Given the description of an element on the screen output the (x, y) to click on. 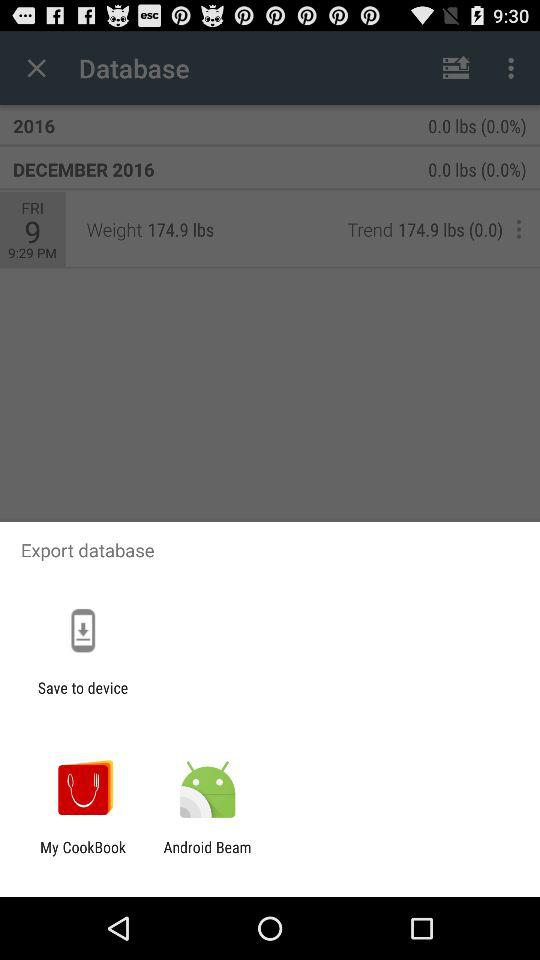
open the android beam app (207, 856)
